Given the description of an element on the screen output the (x, y) to click on. 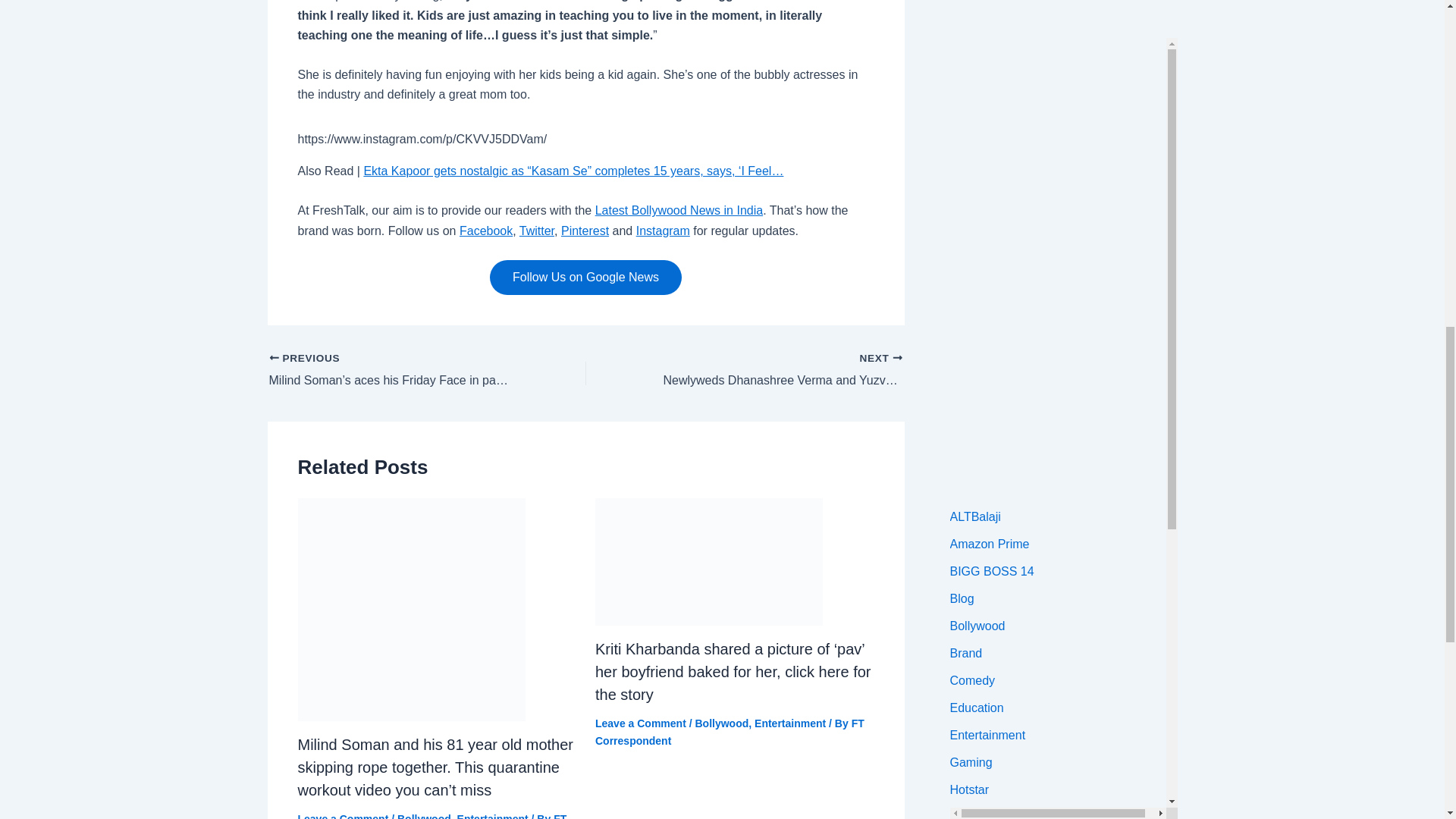
Follow Us on Google News (585, 277)
Instagram (663, 230)
Twitter (536, 230)
Latest Bollywood News in India (678, 210)
Facebook (486, 230)
View all posts by FT Correspondent (729, 731)
Pinterest (584, 230)
View all posts by FT Correspondent (431, 816)
